Given the description of an element on the screen output the (x, y) to click on. 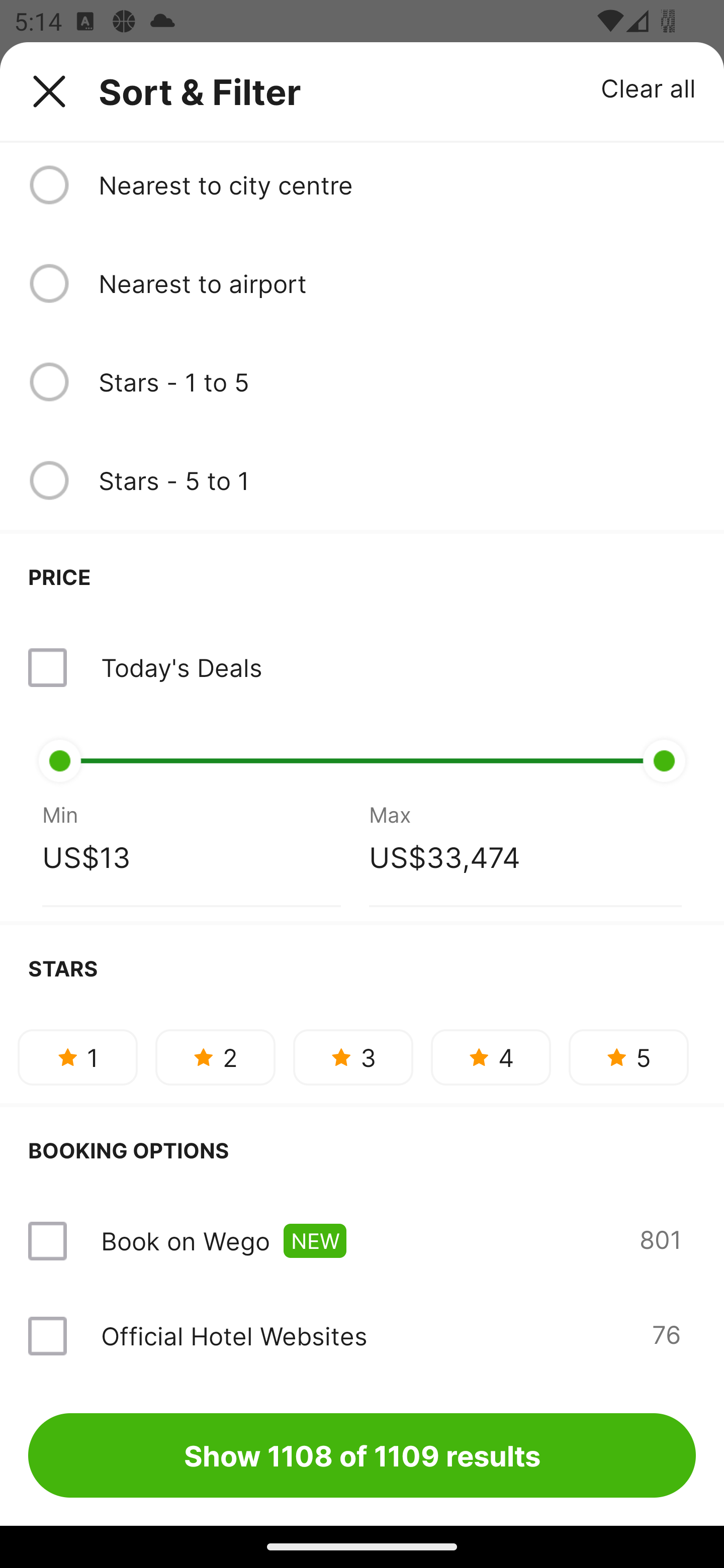
Clear all (648, 87)
Nearest to city centre (396, 184)
Nearest to airport (396, 283)
Stars - 1 to 5 (396, 381)
Stars - 5 to 1 (396, 480)
Today's Deals (362, 667)
Today's Deals (181, 667)
1 (77, 1056)
2 (214, 1056)
3 (352, 1056)
4 (491, 1056)
5 (627, 1056)
Book on Wego NEW 801 (362, 1240)
Book on Wego (184, 1241)
Official Hotel Websites 76 (362, 1335)
Official Hotel Websites (233, 1335)
Show 1108 of 1109 results (361, 1454)
